Given the description of an element on the screen output the (x, y) to click on. 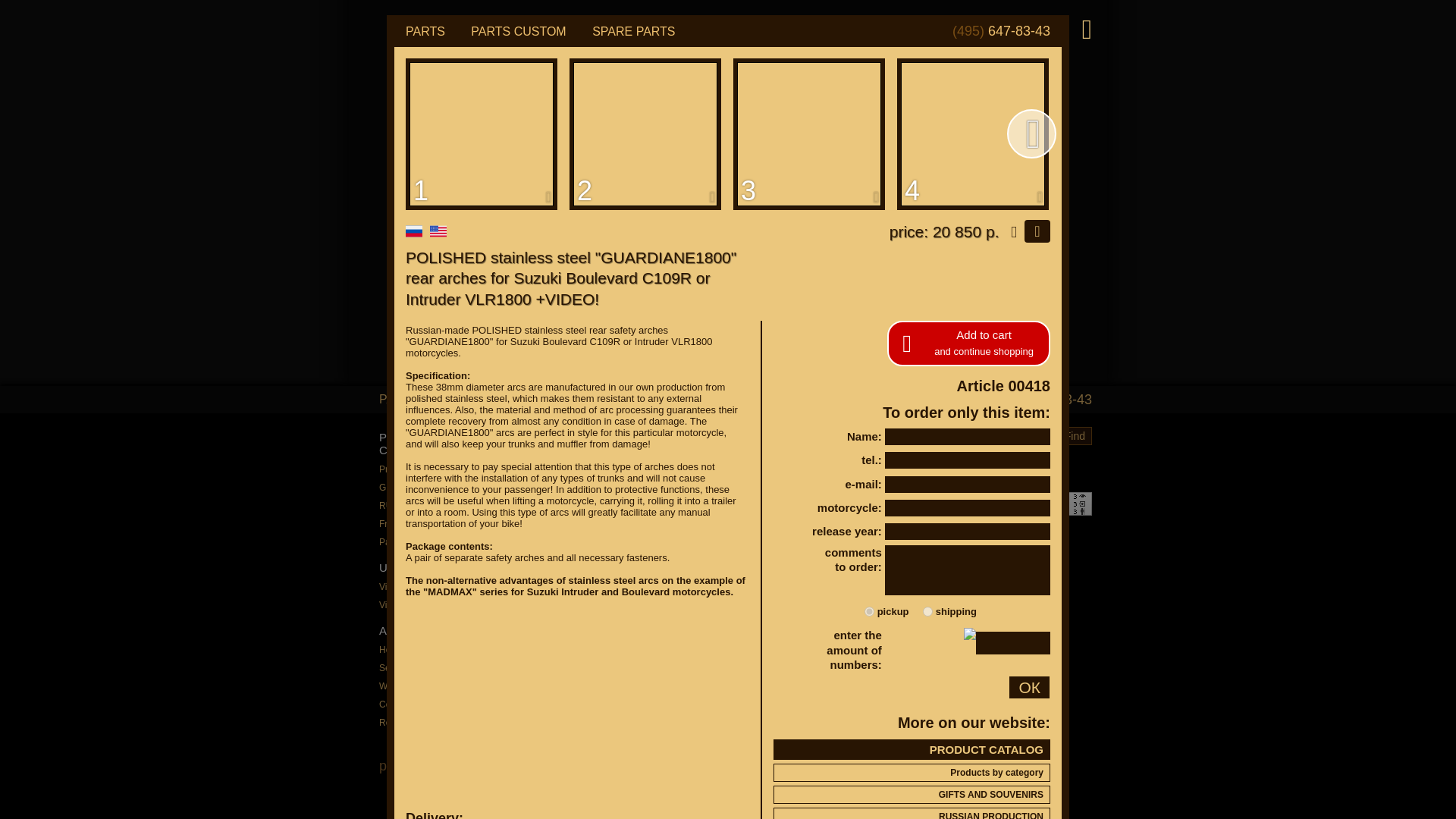
YouTube video player (572, 37)
Video instructions (911, 209)
Services metaservice (911, 281)
Home (911, 259)
Products by category (911, 49)
Find (1032, 382)
GIFTS AND SOUVENIRS (911, 72)
Payment and shipping (911, 137)
payment and delivery (532, 211)
RUSSIAN PRODUCTION (911, 94)
